Given the description of an element on the screen output the (x, y) to click on. 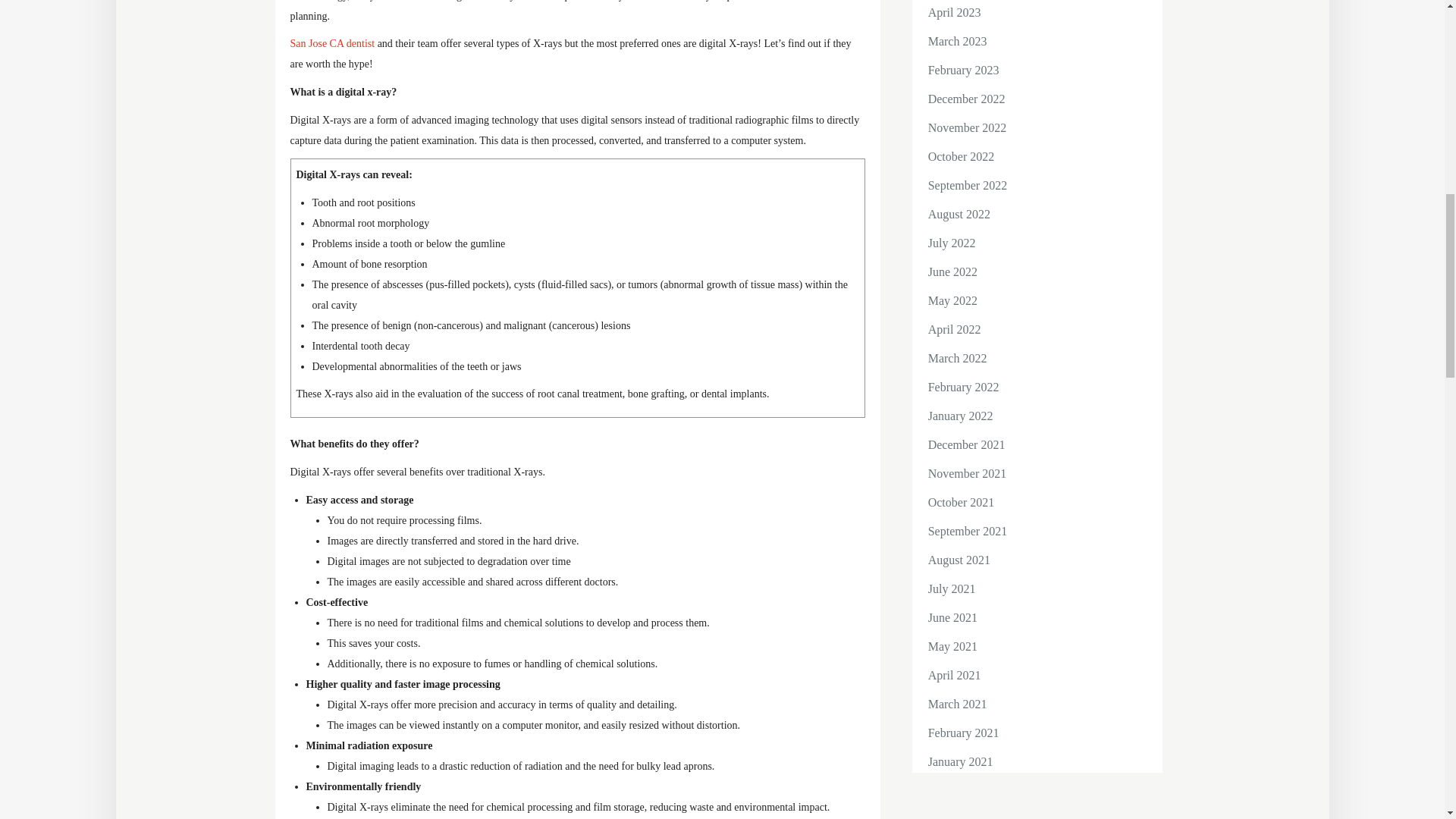
March 2023 (957, 41)
February 2023 (963, 69)
San Jose CA dentist (331, 43)
April 2023 (954, 11)
